Given the description of an element on the screen output the (x, y) to click on. 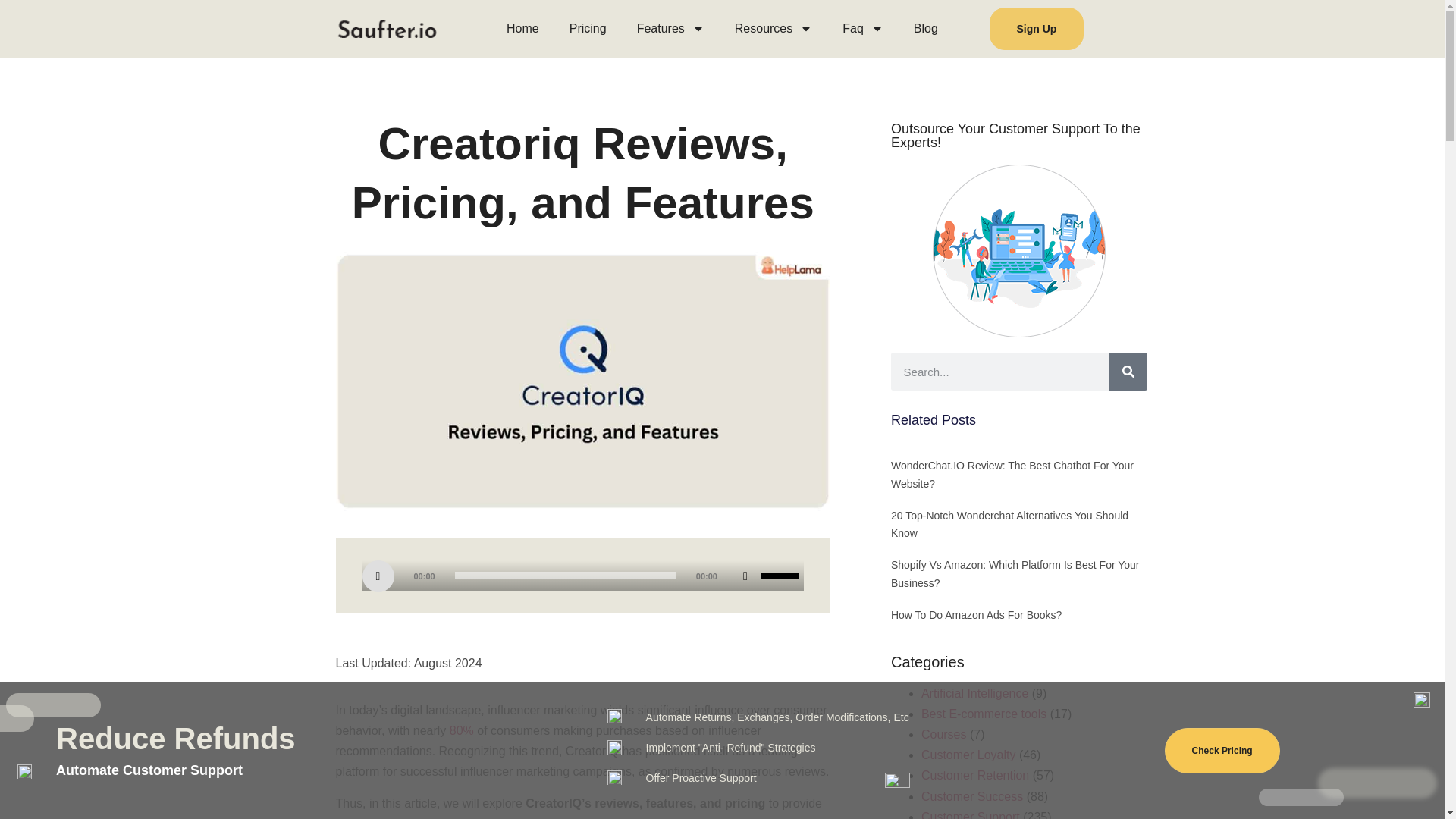
Mute (745, 575)
Pricing (587, 28)
Play (377, 575)
Resources (773, 28)
Features (670, 28)
Faq (862, 28)
Home (523, 28)
Blog (925, 28)
